Given the description of an element on the screen output the (x, y) to click on. 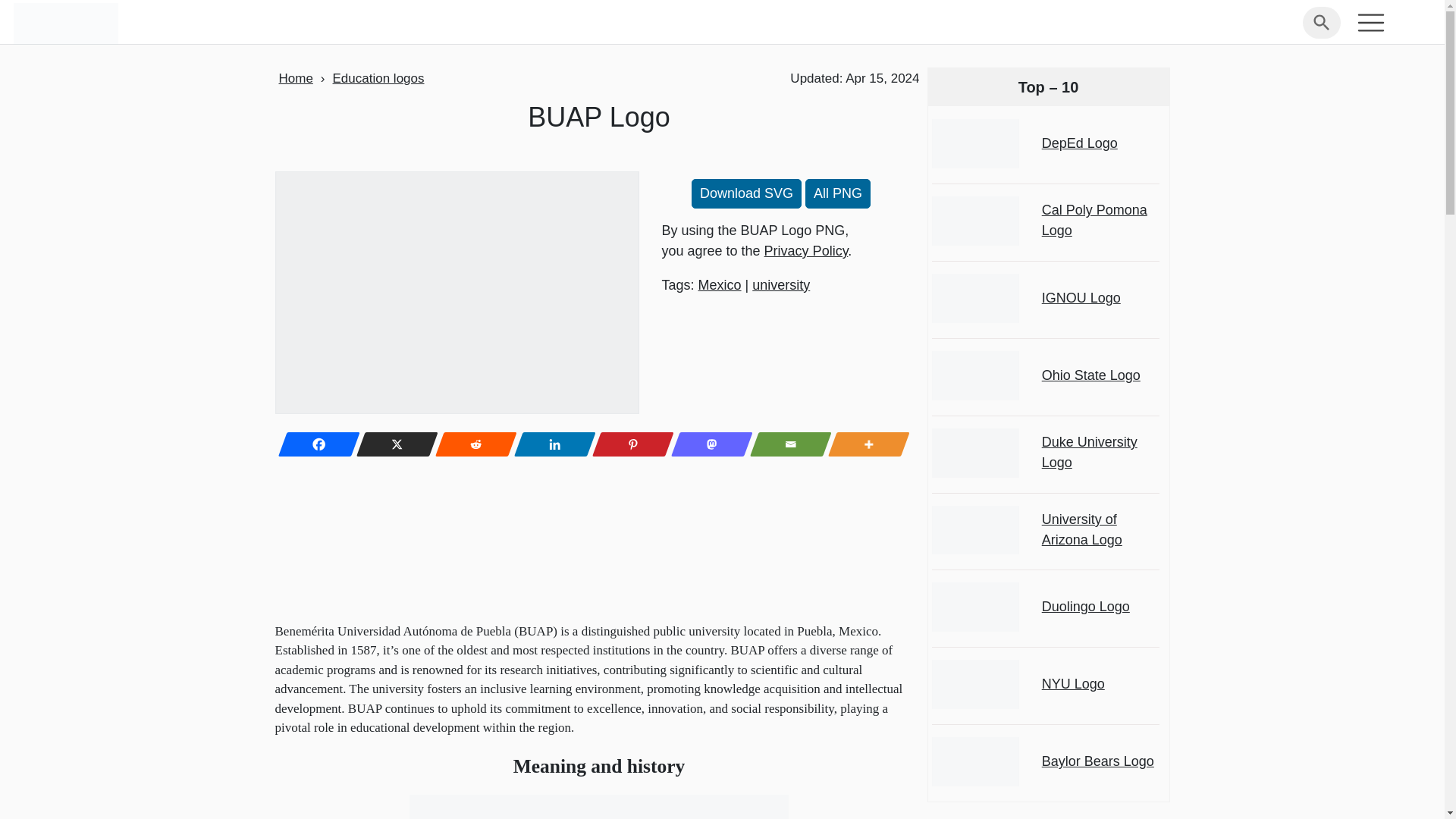
Home (296, 78)
Privacy Policy (806, 250)
Download SVG (746, 193)
Email (785, 444)
Education logos (379, 78)
All PNG (837, 193)
X (392, 444)
university (780, 284)
IGNOU Logo (1095, 298)
Mastodon (707, 444)
Facebook (314, 444)
Reddit (471, 444)
Pinterest (628, 444)
DepEd Logo (1095, 143)
Linkedin (549, 444)
